Given the description of an element on the screen output the (x, y) to click on. 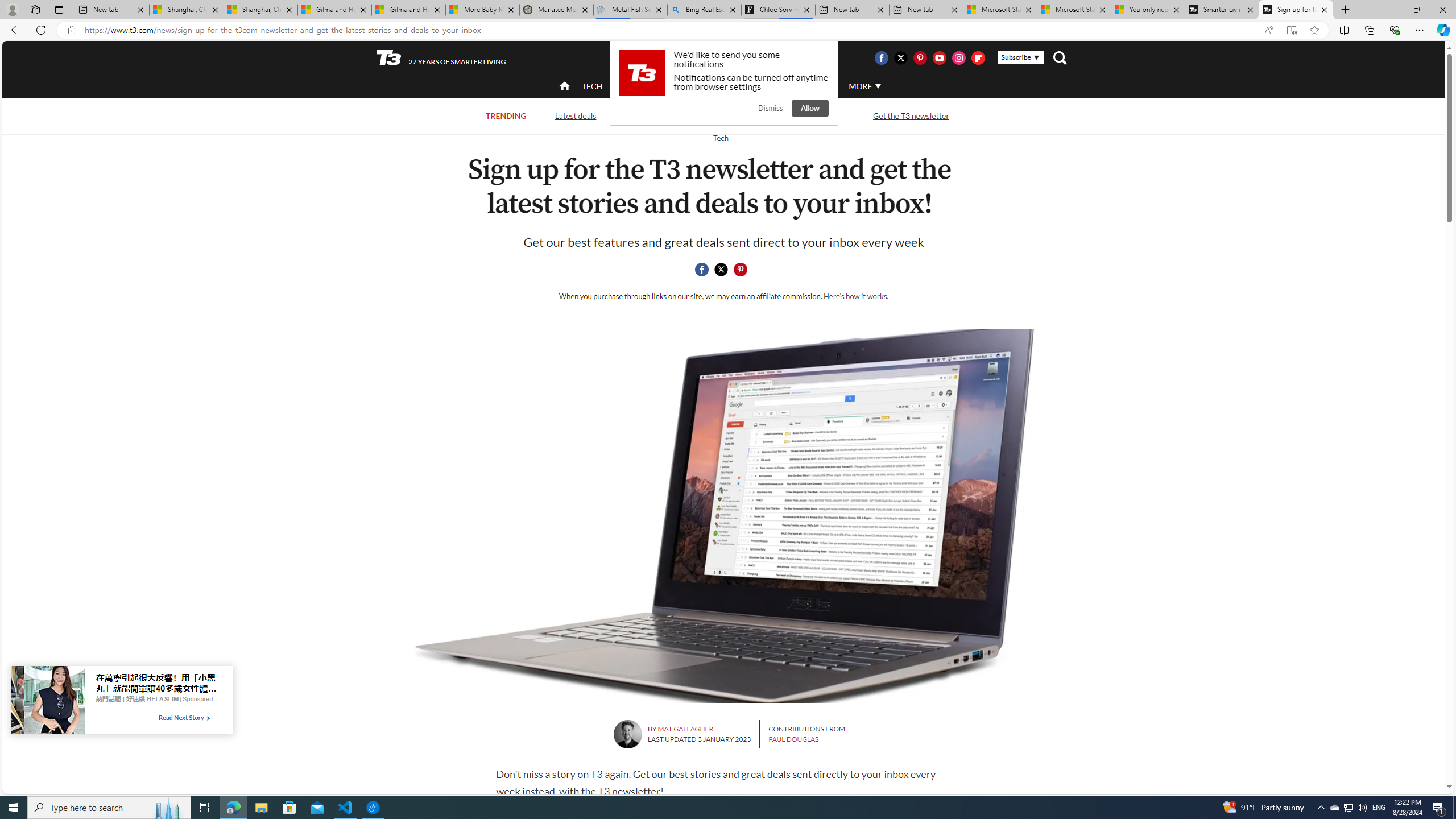
home (564, 86)
AUTO (815, 86)
Share this page on Twitter (720, 269)
Streaming TV and movies (788, 115)
App bar (728, 29)
ACTIVE (638, 86)
Visit us on Youtube (938, 57)
UK Edition (736, 57)
TECH (591, 85)
PAUL DOUGLAS (793, 738)
Dismiss (770, 107)
